Given the description of an element on the screen output the (x, y) to click on. 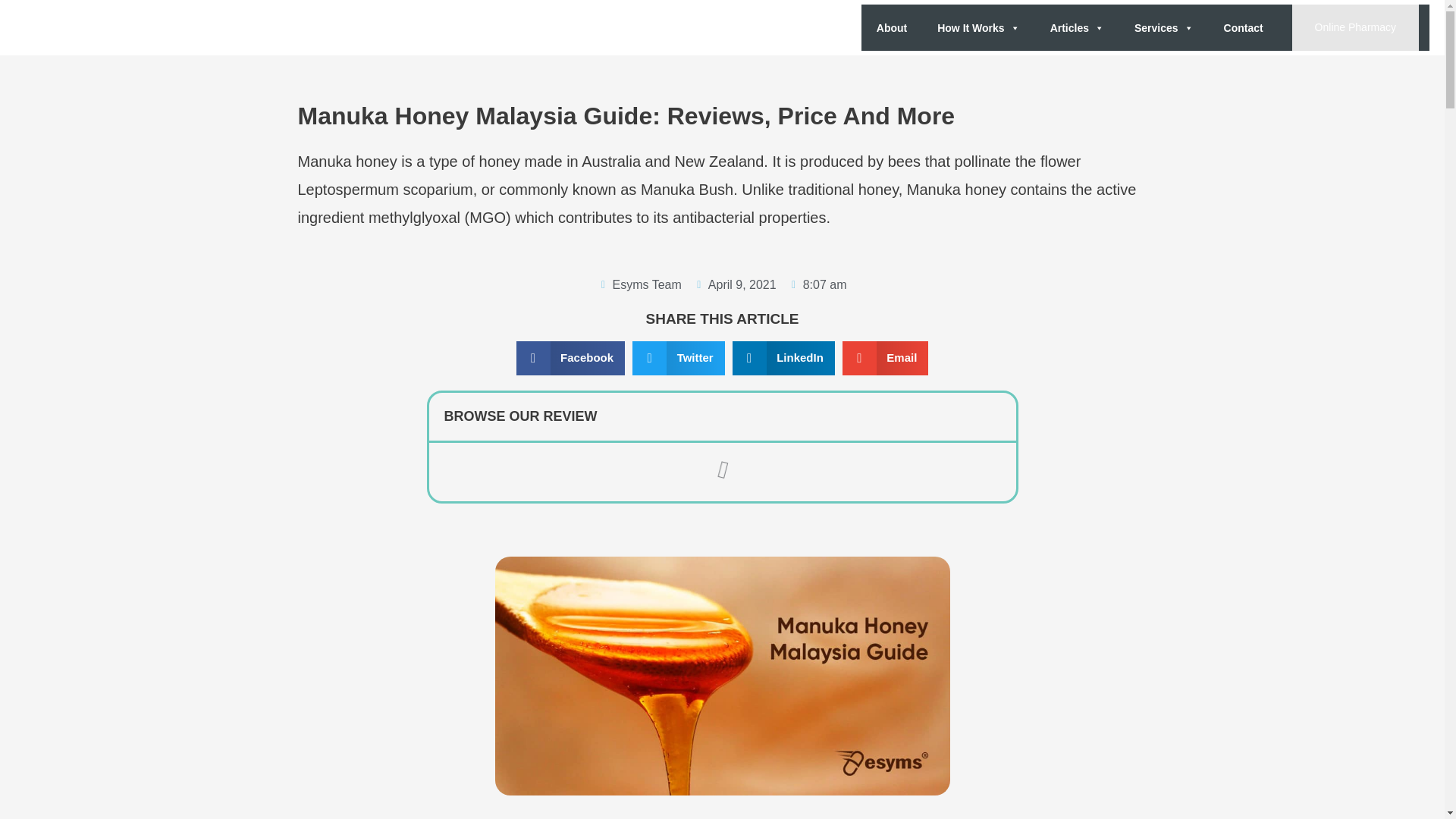
Articles (1077, 28)
About (891, 28)
How It Works (977, 28)
